Given the description of an element on the screen output the (x, y) to click on. 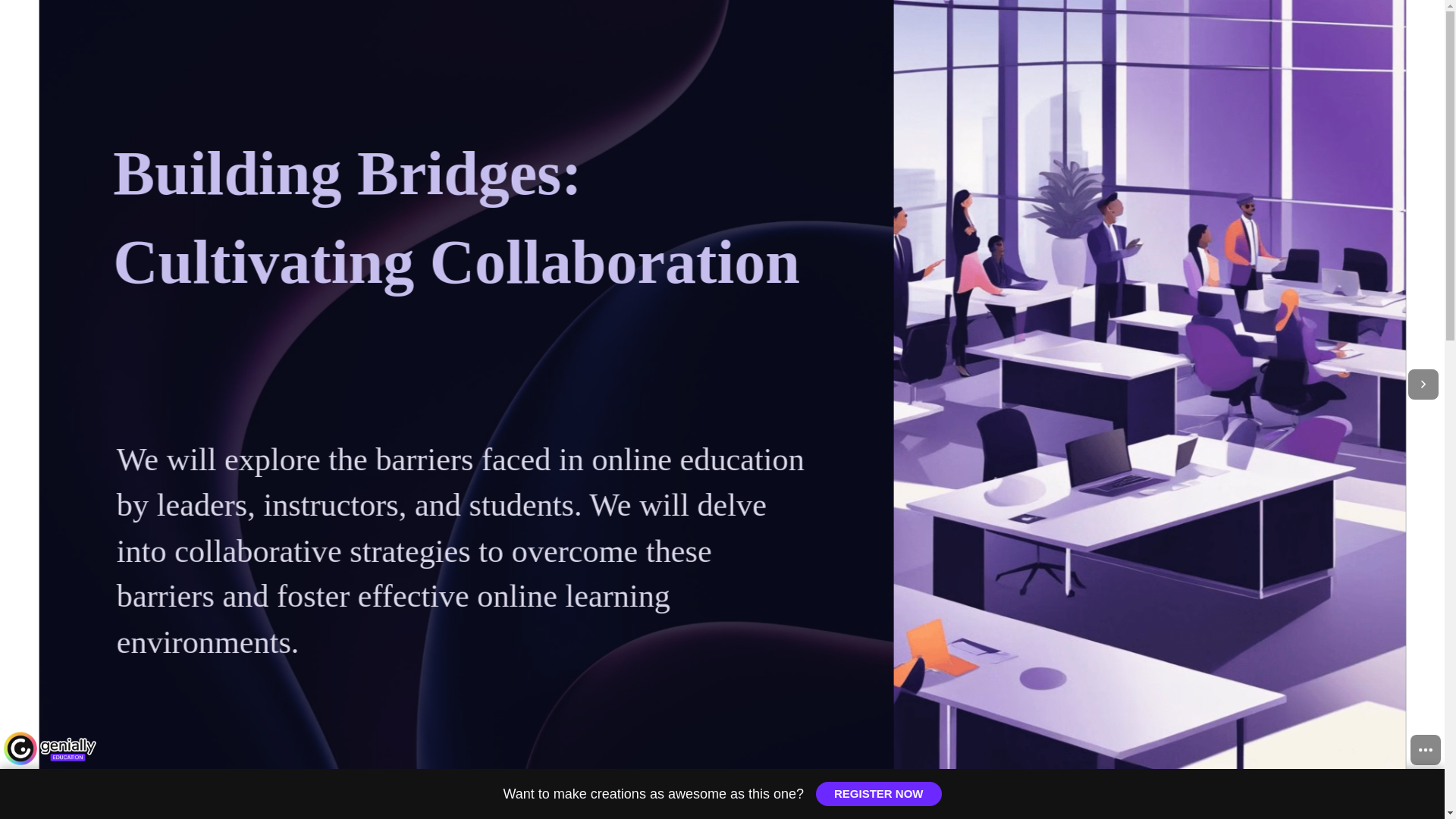
Genially home page (50, 748)
REGISTER NOW (878, 793)
